Given the description of an element on the screen output the (x, y) to click on. 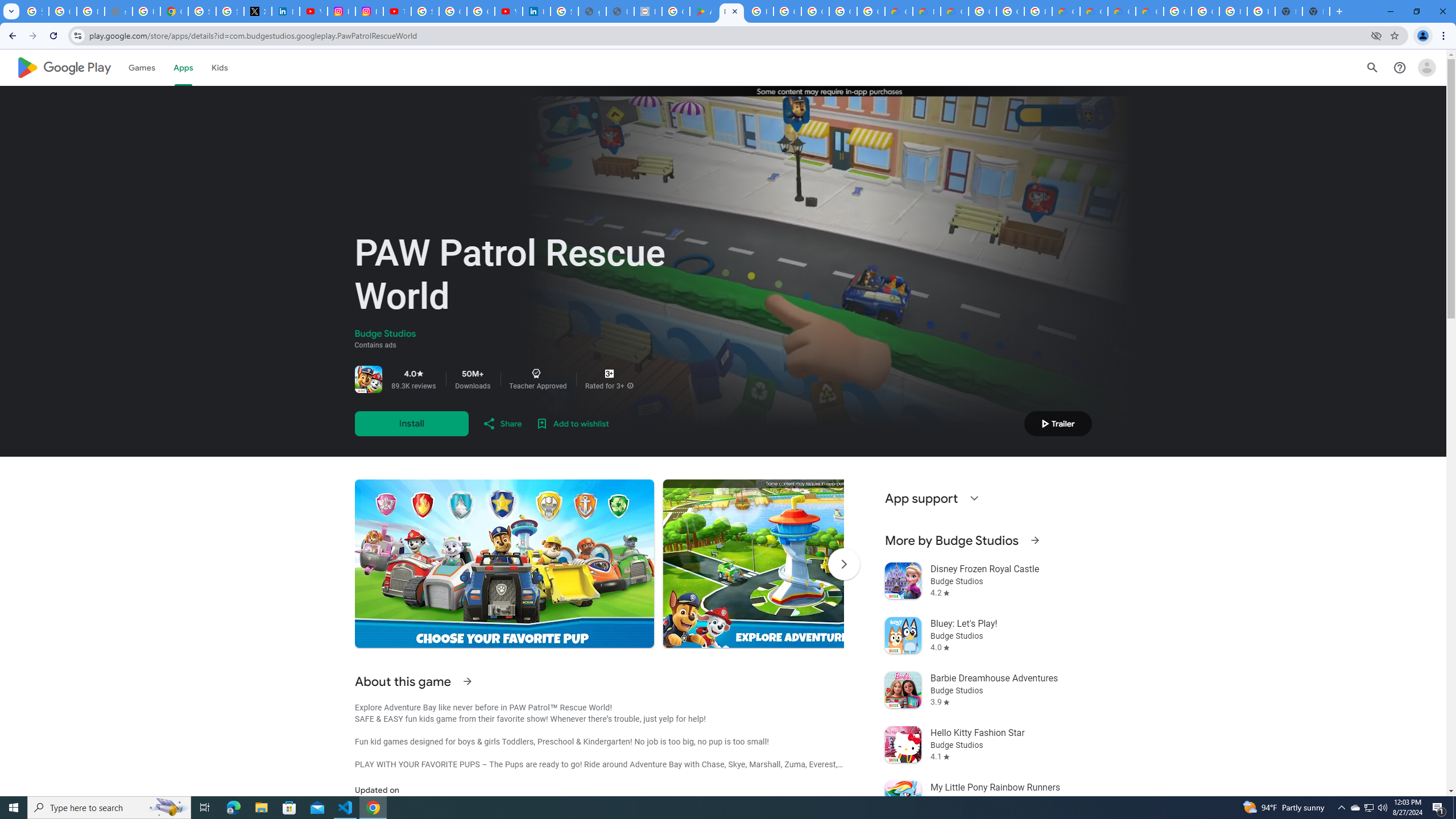
More info about this content rating (630, 385)
Scroll Next (843, 563)
Gemini for Business and Developers | Google Cloud (955, 11)
User Details (620, 11)
Google Cloud Platform (982, 11)
Customer Care | Google Cloud (1065, 11)
